Given the description of an element on the screen output the (x, y) to click on. 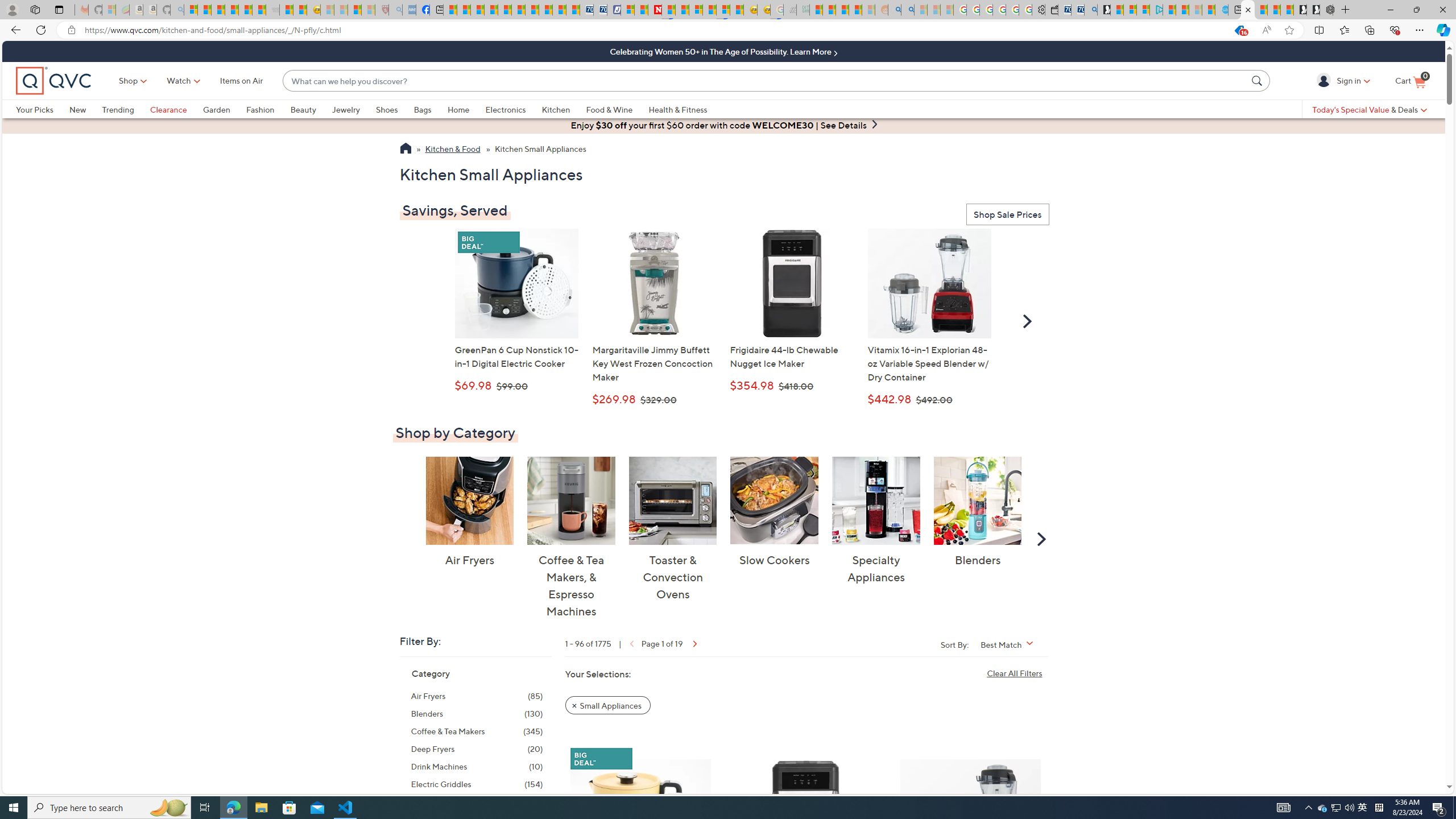
Shoes (394, 109)
Toaster & Convection Ovens Toaster & Convection Ovens (672, 529)
Your Picks (42, 109)
Climate Damage Becomes Too Severe To Reverse (490, 9)
